Given the description of an element on the screen output the (x, y) to click on. 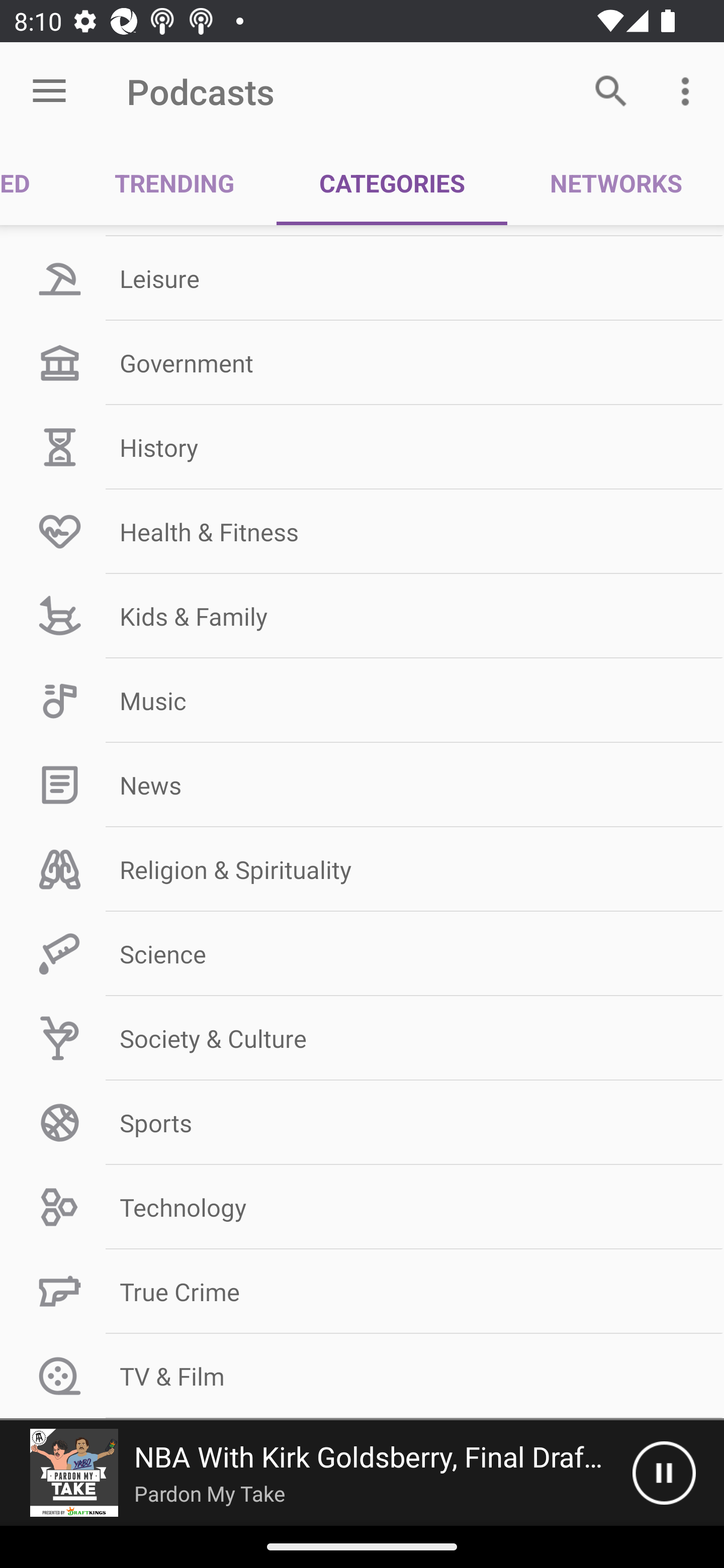
Open menu (49, 91)
Search (611, 90)
More options (688, 90)
TRENDING (174, 183)
CATEGORIES (391, 183)
NETWORKS (615, 183)
Leisure (362, 277)
Government (362, 361)
History (362, 446)
Health & Fitness (362, 531)
Kids & Family (362, 615)
Music (362, 700)
News (362, 785)
Religion & Spirituality (362, 869)
Science (362, 953)
Society & Culture (362, 1037)
Sports (362, 1122)
Technology (362, 1207)
True Crime (362, 1291)
TV & Film (362, 1375)
Pause (663, 1472)
